Given the description of an element on the screen output the (x, y) to click on. 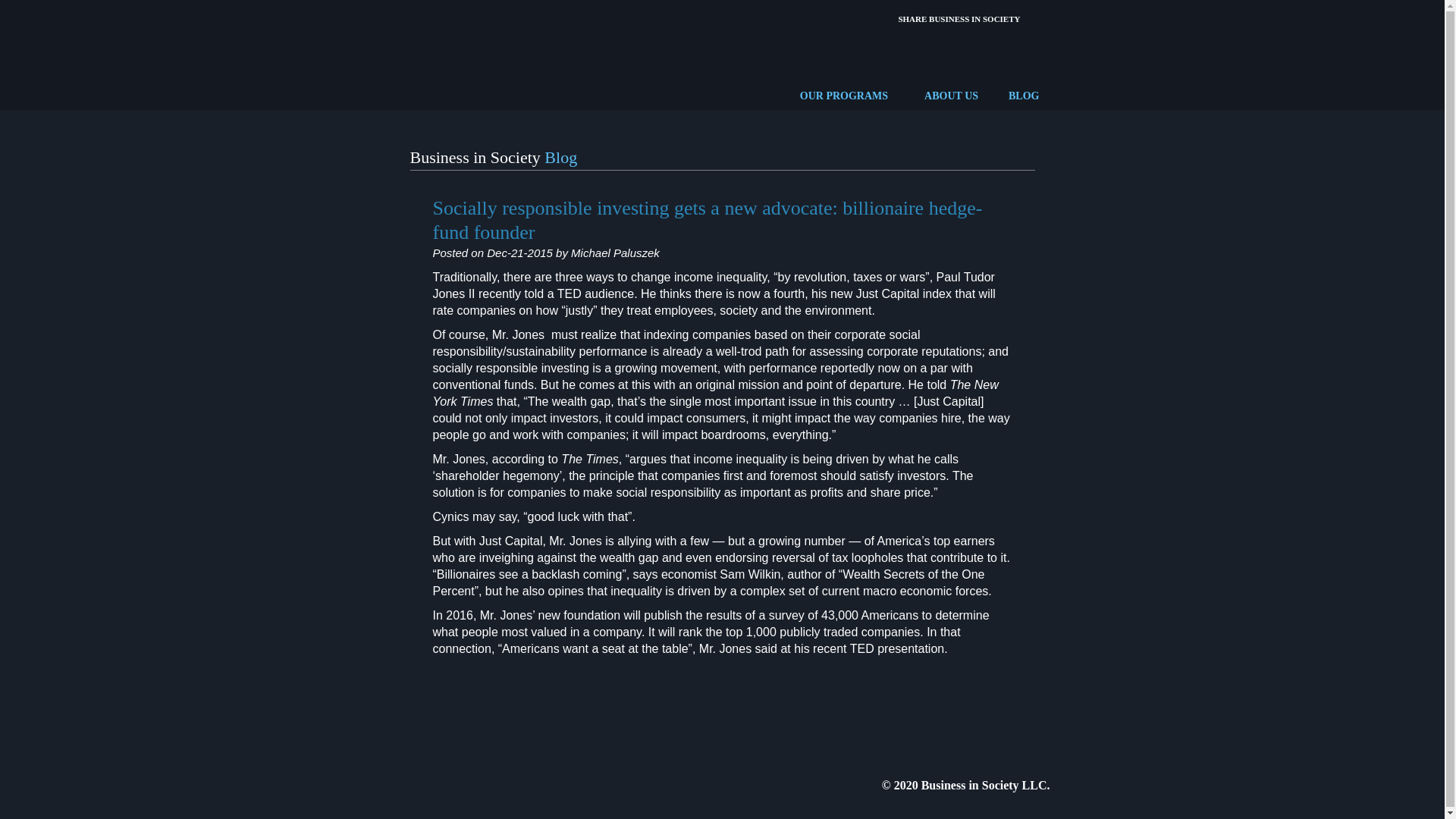
Business In Society Home (453, 52)
Facebook (956, 17)
OUR PROGRAMS (843, 96)
Share On LinkedIn (1023, 17)
Share On Twitter (989, 17)
BLOG (1024, 96)
ABOUT US (951, 96)
